Given the description of an element on the screen output the (x, y) to click on. 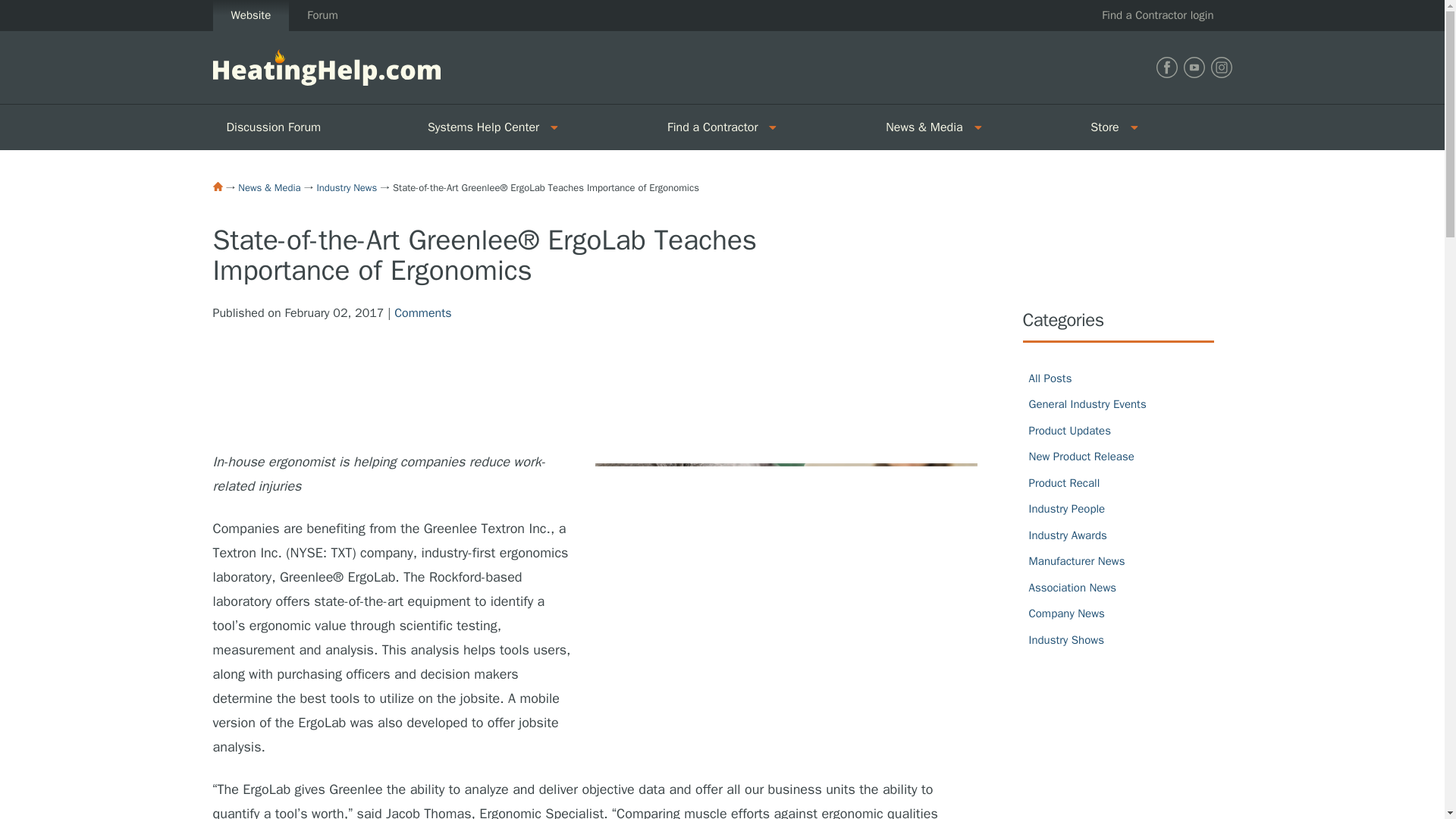
Find a Contractor login (1157, 15)
Discussion Forum (312, 126)
Find Heating Help on Instagram (1220, 66)
Find Heating Help on Youtube (1193, 66)
Find Heating Help on Facebook (1166, 66)
Forum (321, 15)
Home (217, 185)
Website (250, 15)
Skip to Content (40, 9)
Systems Help Center (478, 126)
